Given the description of an element on the screen output the (x, y) to click on. 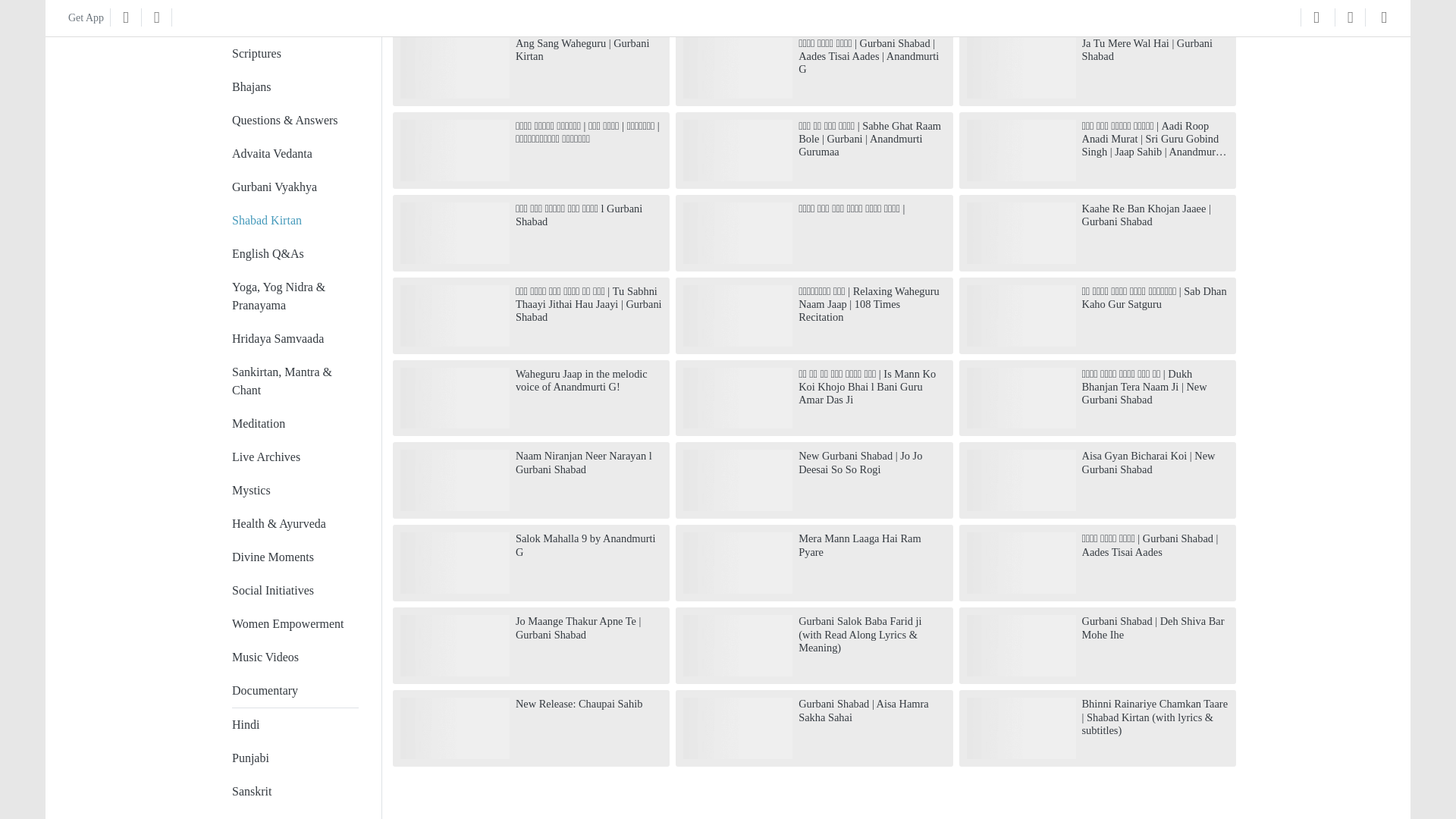
125 videos (294, 254)
Bhajans (250, 86)
Gurbani Vyakhya (274, 186)
13 videos (294, 623)
38 videos (294, 557)
871 videos (294, 2)
135 videos (294, 186)
454 videos (294, 120)
802 videos (294, 20)
Advaita Vedanta (272, 153)
